Given the description of an element on the screen output the (x, y) to click on. 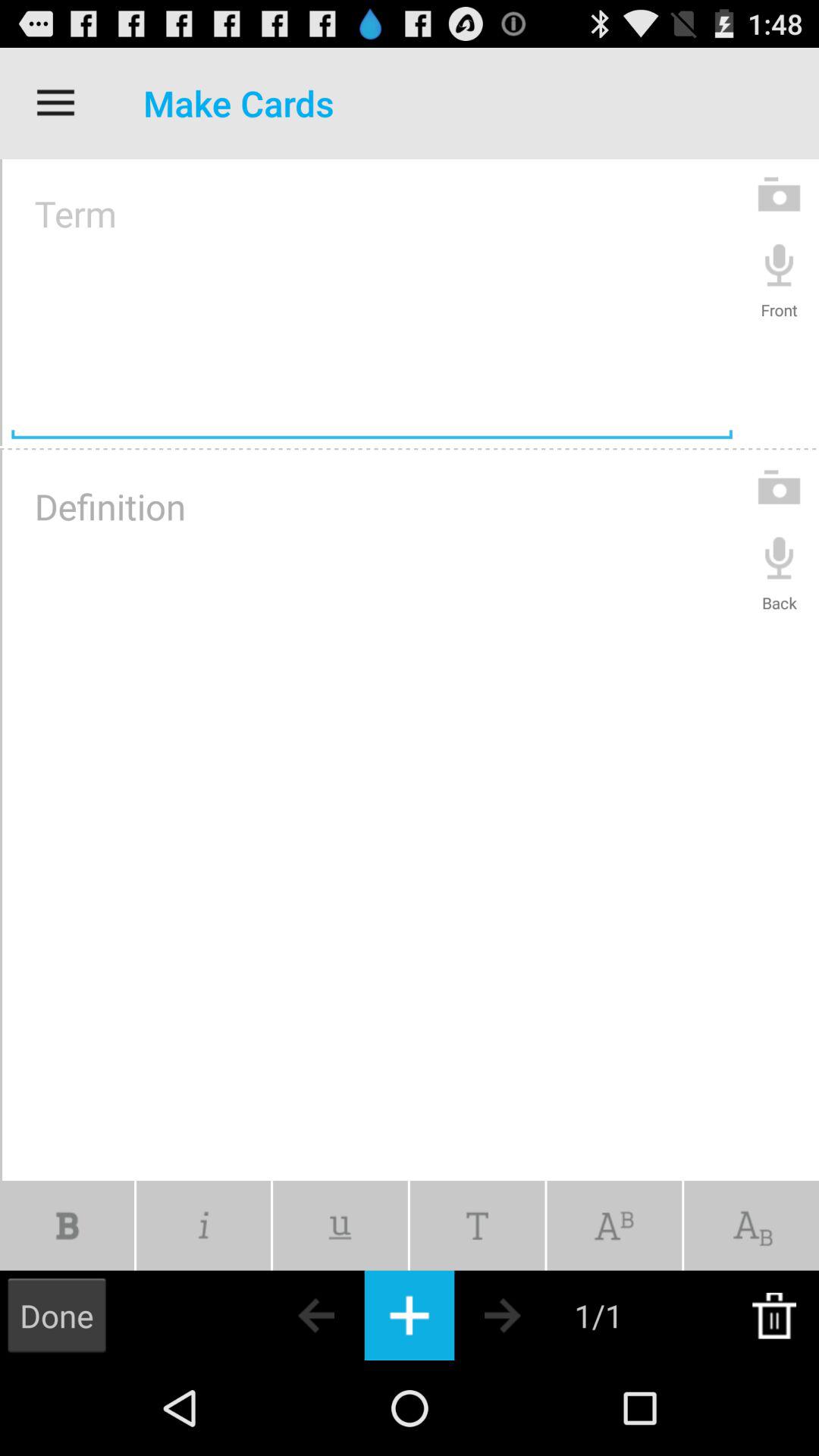
turn off icon next to make cards item (55, 103)
